Given the description of an element on the screen output the (x, y) to click on. 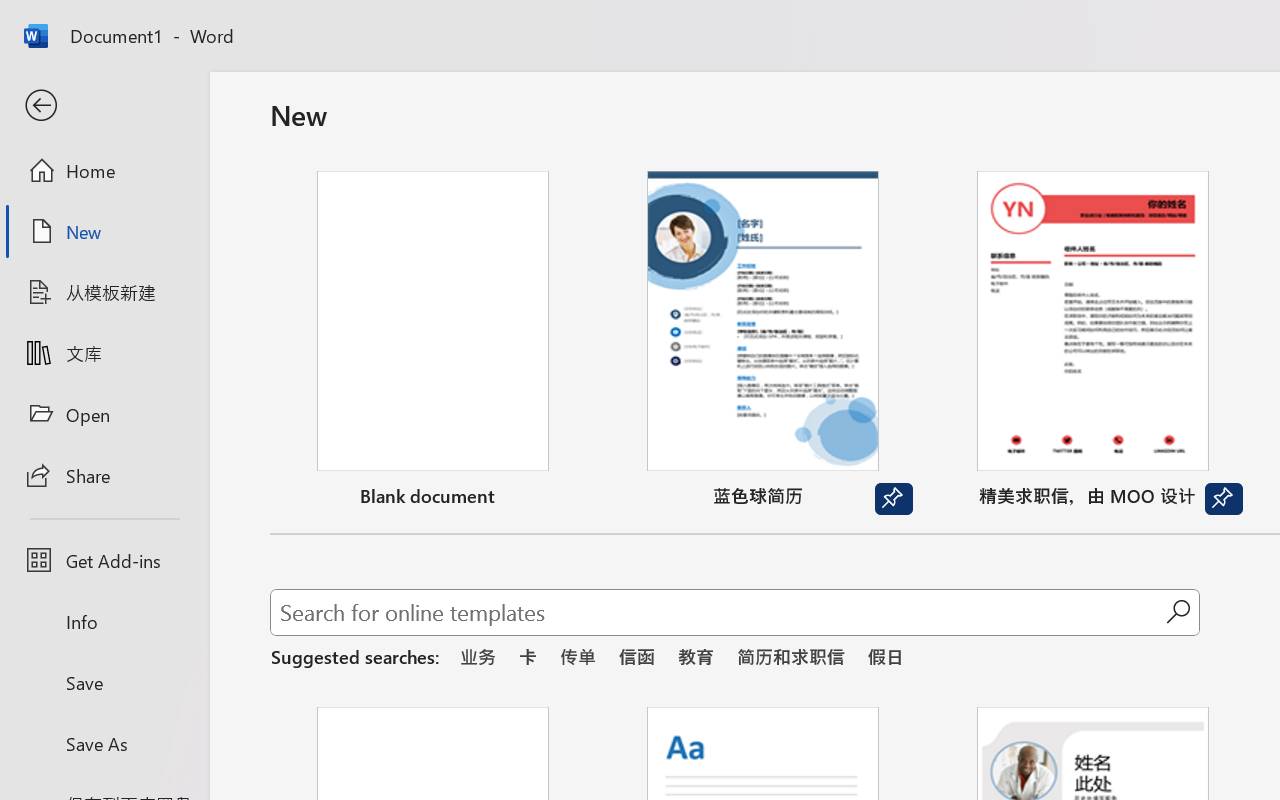
Content rating Rated for 3+ (844, 687)
PDD Holdings Inc - ADR (PDD) Price & News - Google Finance (718, 22)
